Given the description of an element on the screen output the (x, y) to click on. 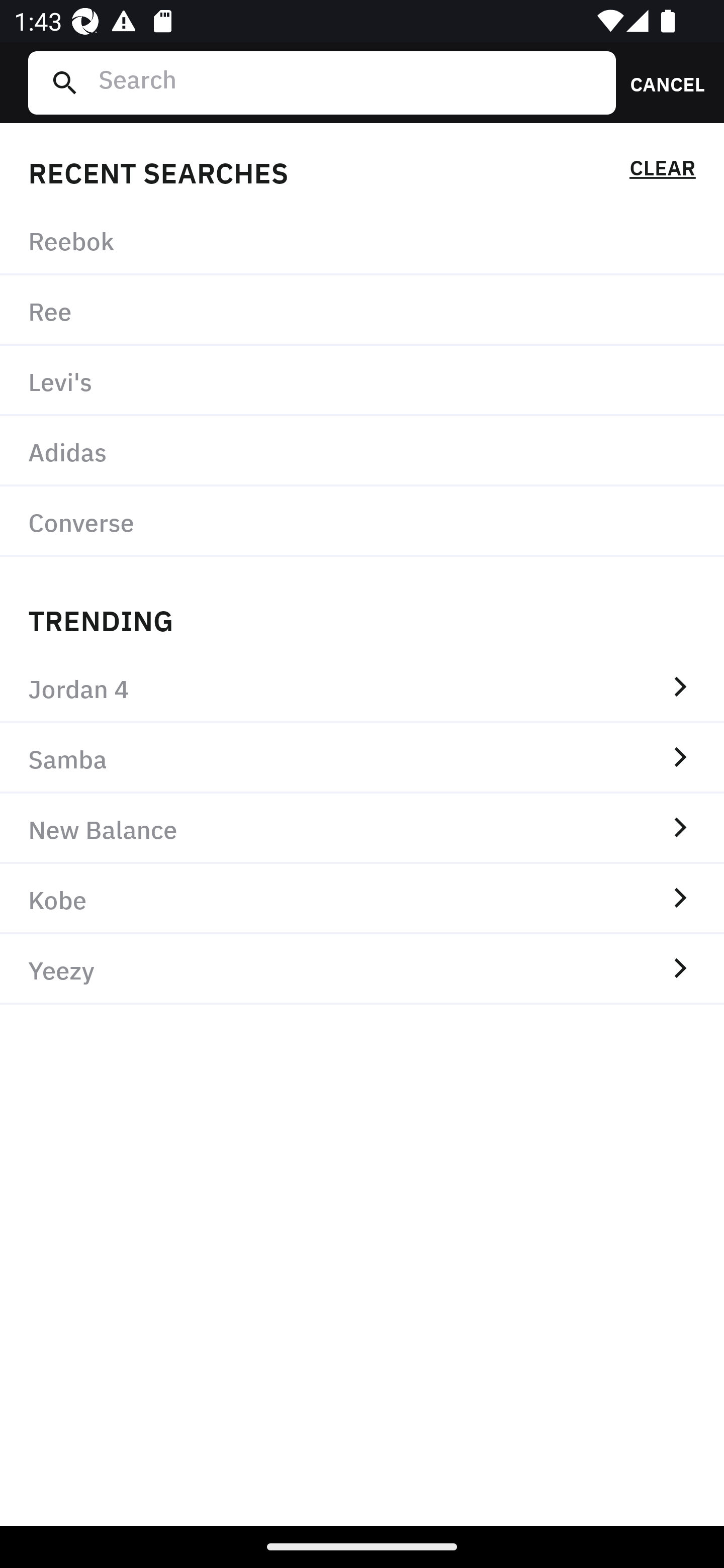
CANCEL (660, 82)
Search (349, 82)
CLEAR (662, 170)
Reebok (362, 240)
Ree (362, 310)
Levi's (362, 380)
Adidas (362, 450)
Converse (362, 521)
Jordan 4  (362, 687)
Samba  (362, 757)
New Balance  (362, 828)
Kobe  (362, 898)
Yeezy  (362, 969)
